Given the description of an element on the screen output the (x, y) to click on. 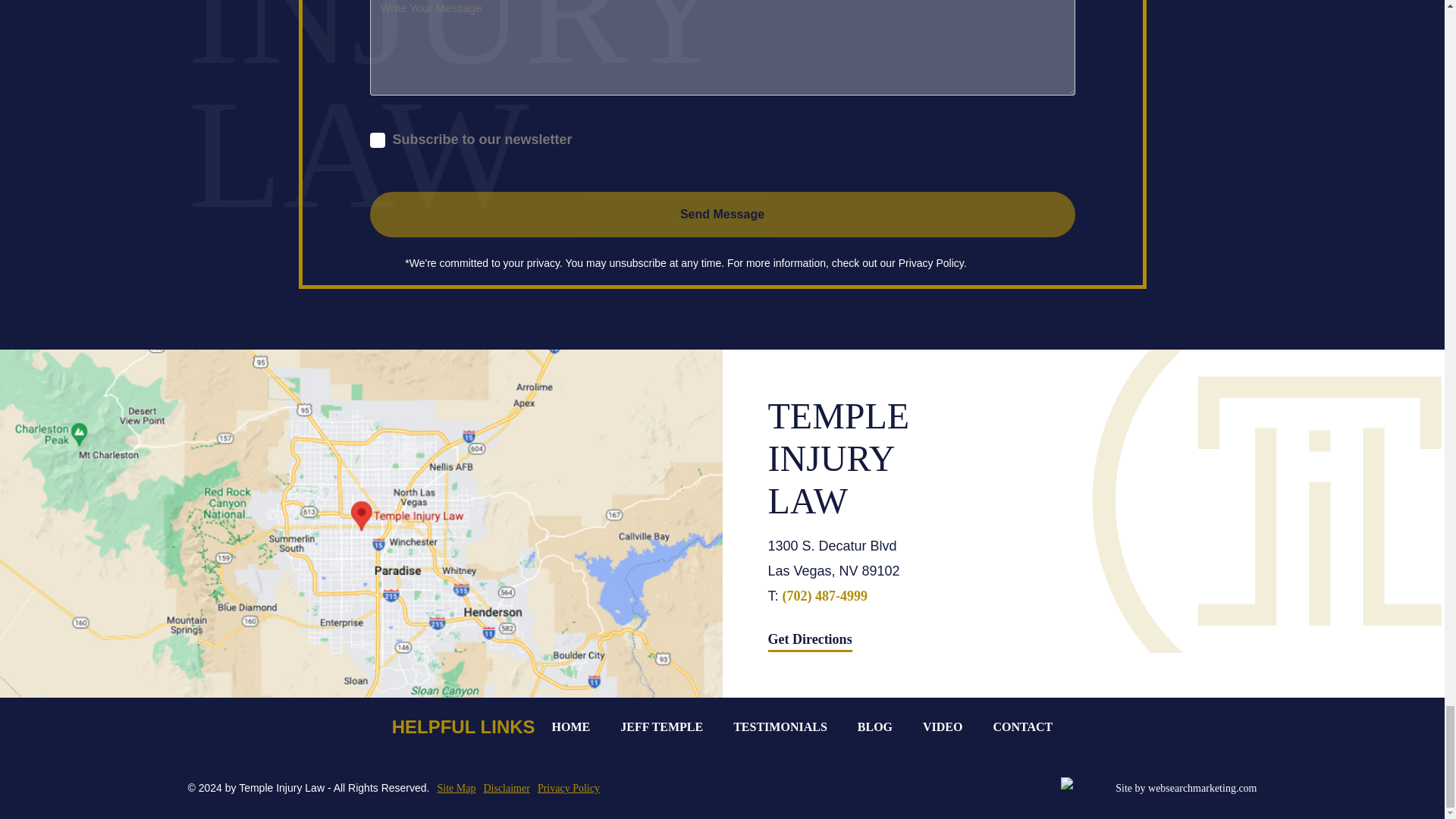
Send Message (722, 214)
